Given the description of an element on the screen output the (x, y) to click on. 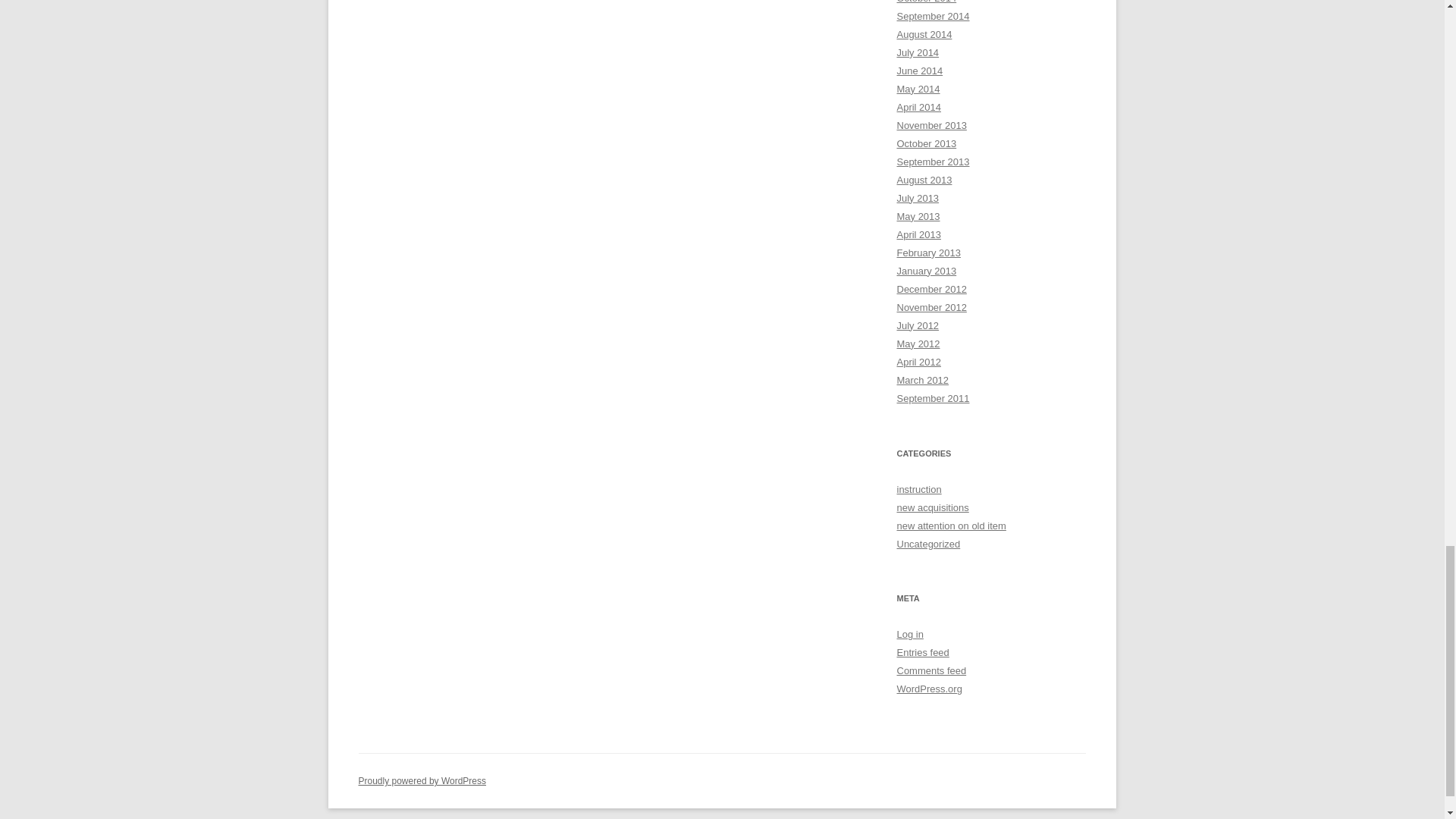
Semantic Personal Publishing Platform (422, 780)
